Given the description of an element on the screen output the (x, y) to click on. 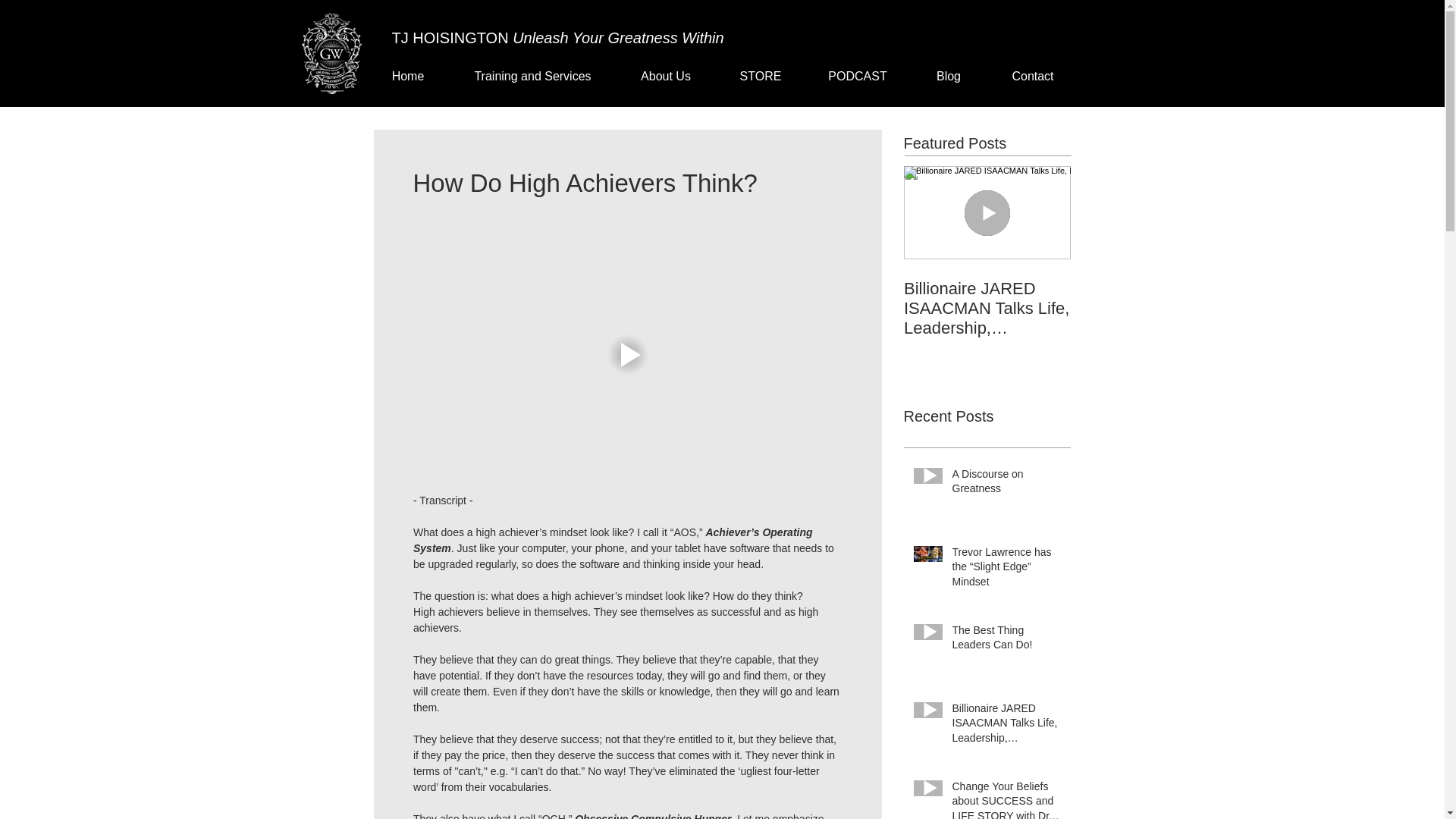
Blog (947, 75)
The Best Thing Leaders Can Do! (1006, 641)
Unleash Your Greatness Within (617, 37)
Contact (1031, 75)
Home (407, 75)
A Discourse on Greatness (1006, 484)
About Us (665, 75)
TJ HOISINGTON  (451, 37)
PODCAST (856, 75)
